Given the description of an element on the screen output the (x, y) to click on. 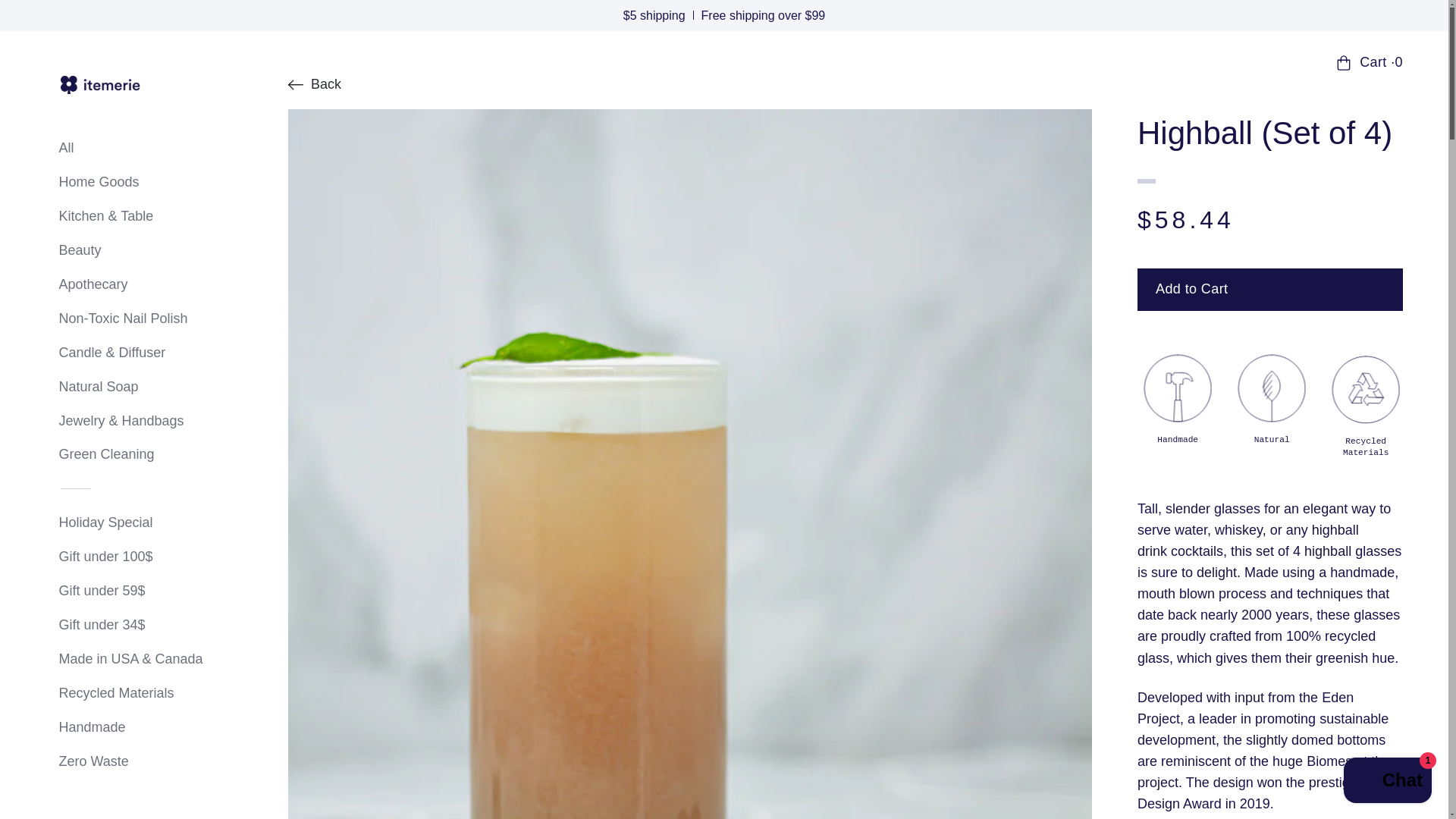
Apothecary (121, 285)
Recycled Materials (121, 693)
Natural Soap (121, 387)
Add to Cart (1270, 289)
Handmade (121, 728)
Zero Waste (121, 761)
Non-Toxic Nail Polish (121, 319)
Holiday Special (121, 523)
Beauty (121, 250)
Shopify online store chat (1387, 781)
All (121, 148)
Home Goods (121, 182)
Back (314, 85)
Green Cleaning (121, 454)
